Given the description of an element on the screen output the (x, y) to click on. 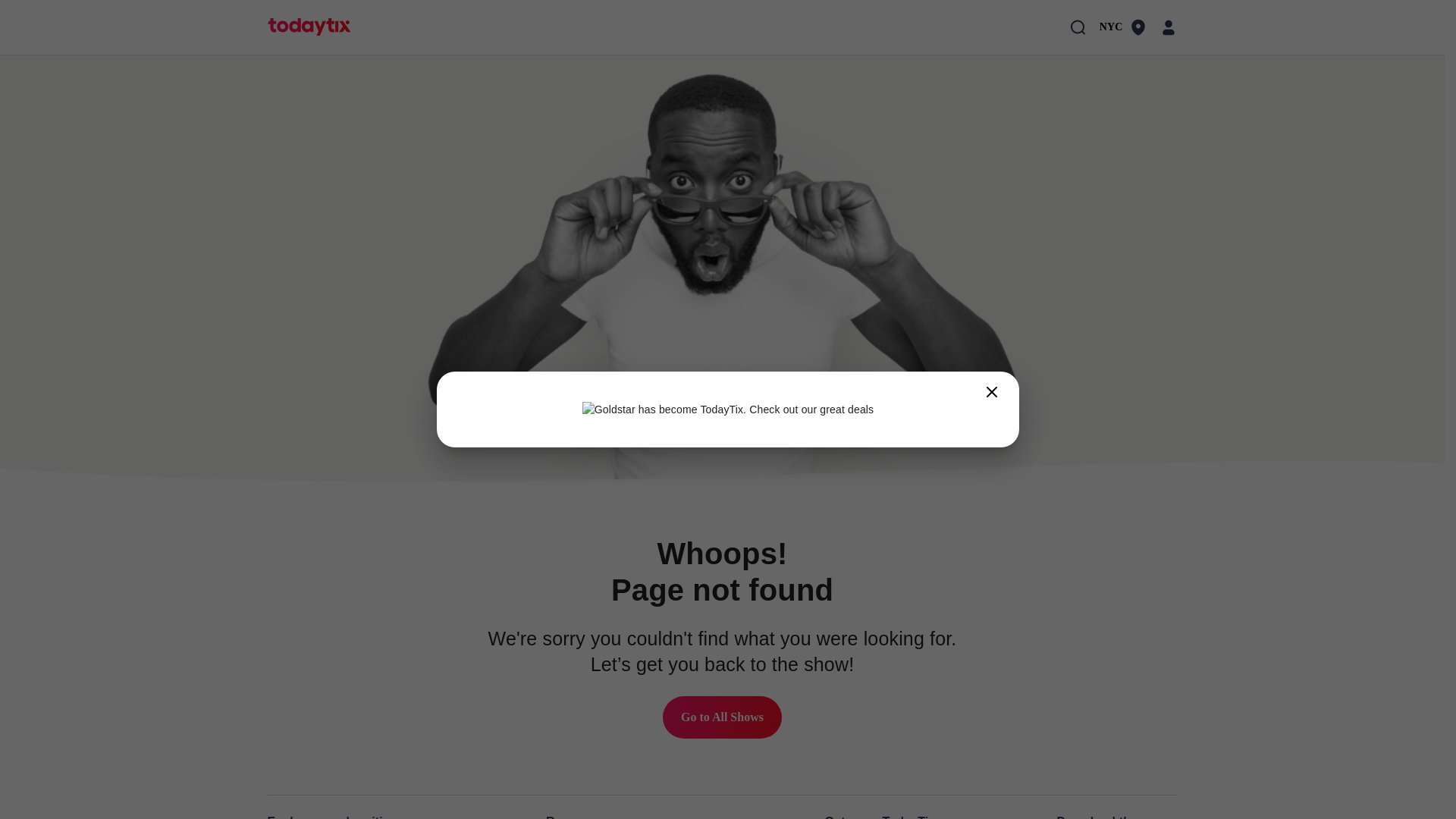
Go to All Shows (721, 717)
